Given the description of an element on the screen output the (x, y) to click on. 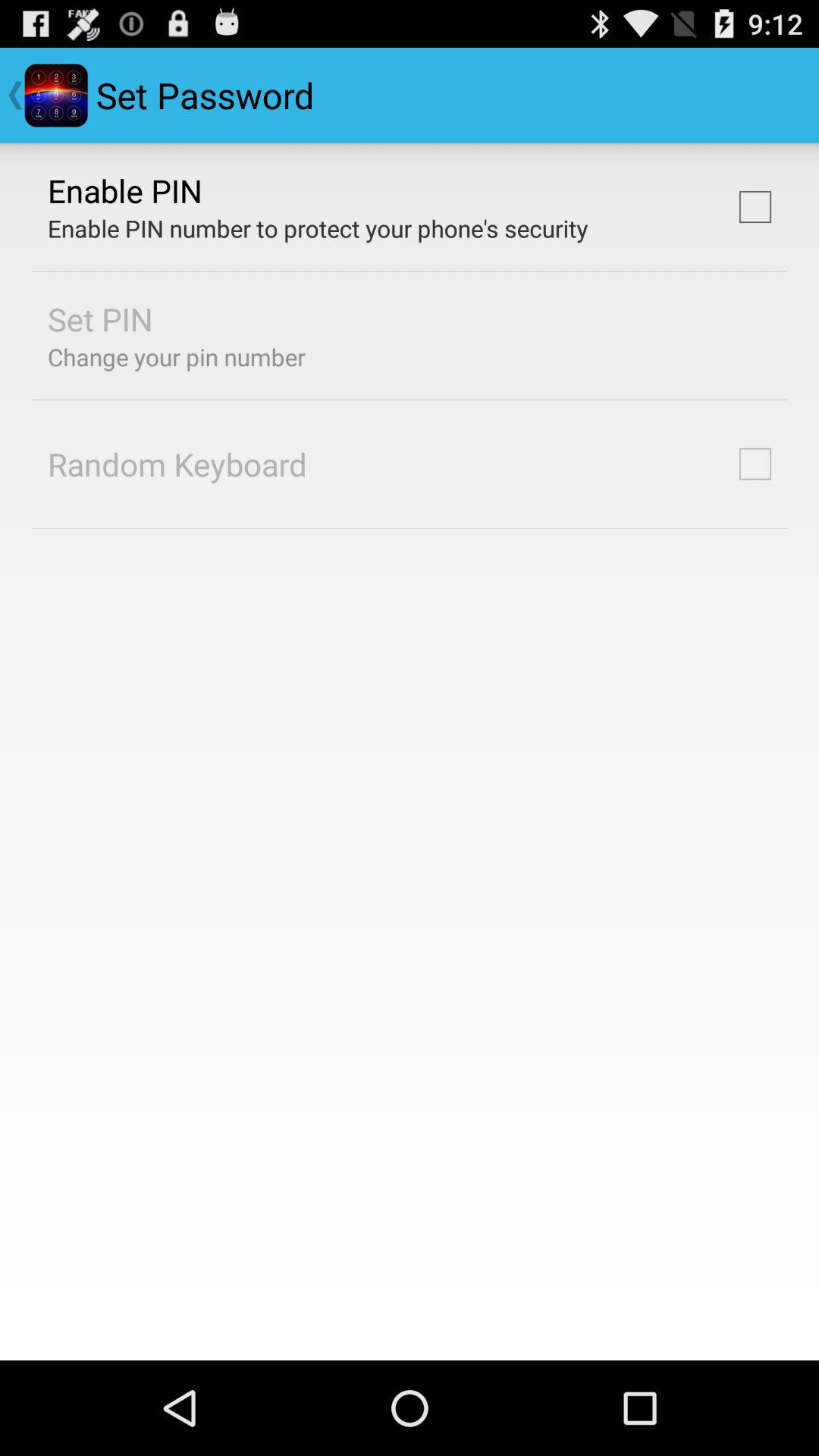
jump to the set pin (99, 318)
